Given the description of an element on the screen output the (x, y) to click on. 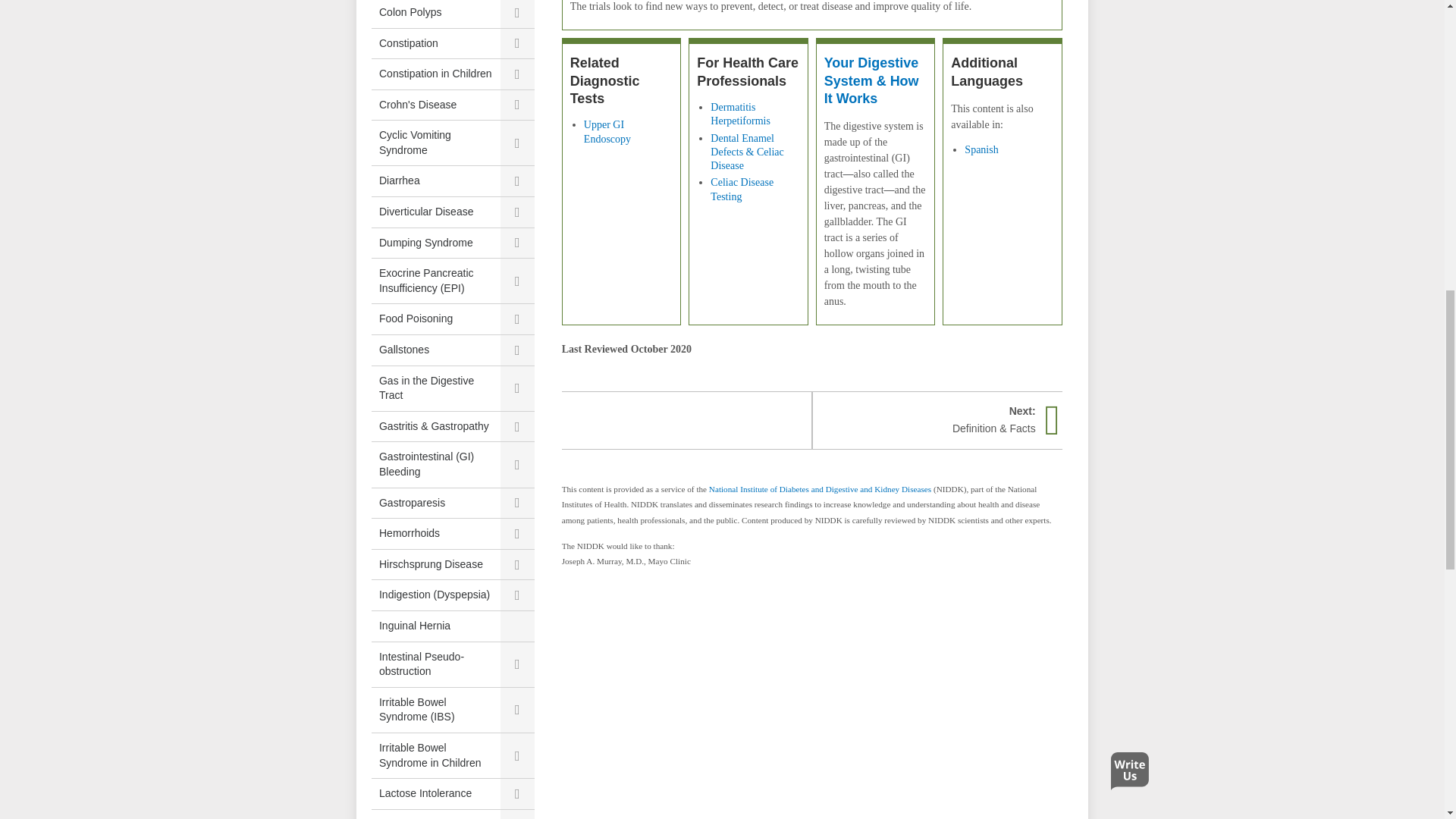
Show child pages for "Cyclic Vomiting Syndrome" (517, 142)
Show child pages for "Colon Polyps" (517, 13)
Show child pages for "Dumping Syndrome" (517, 243)
Show child pages for "Crohn's Disease" (517, 105)
Show child pages for "Diarrhea" (517, 181)
Show child pages for "Constipation" (517, 43)
Show child pages for "Constipation in Children" (517, 73)
Show child pages for "Diverticular Disease" (517, 212)
